Given the description of an element on the screen output the (x, y) to click on. 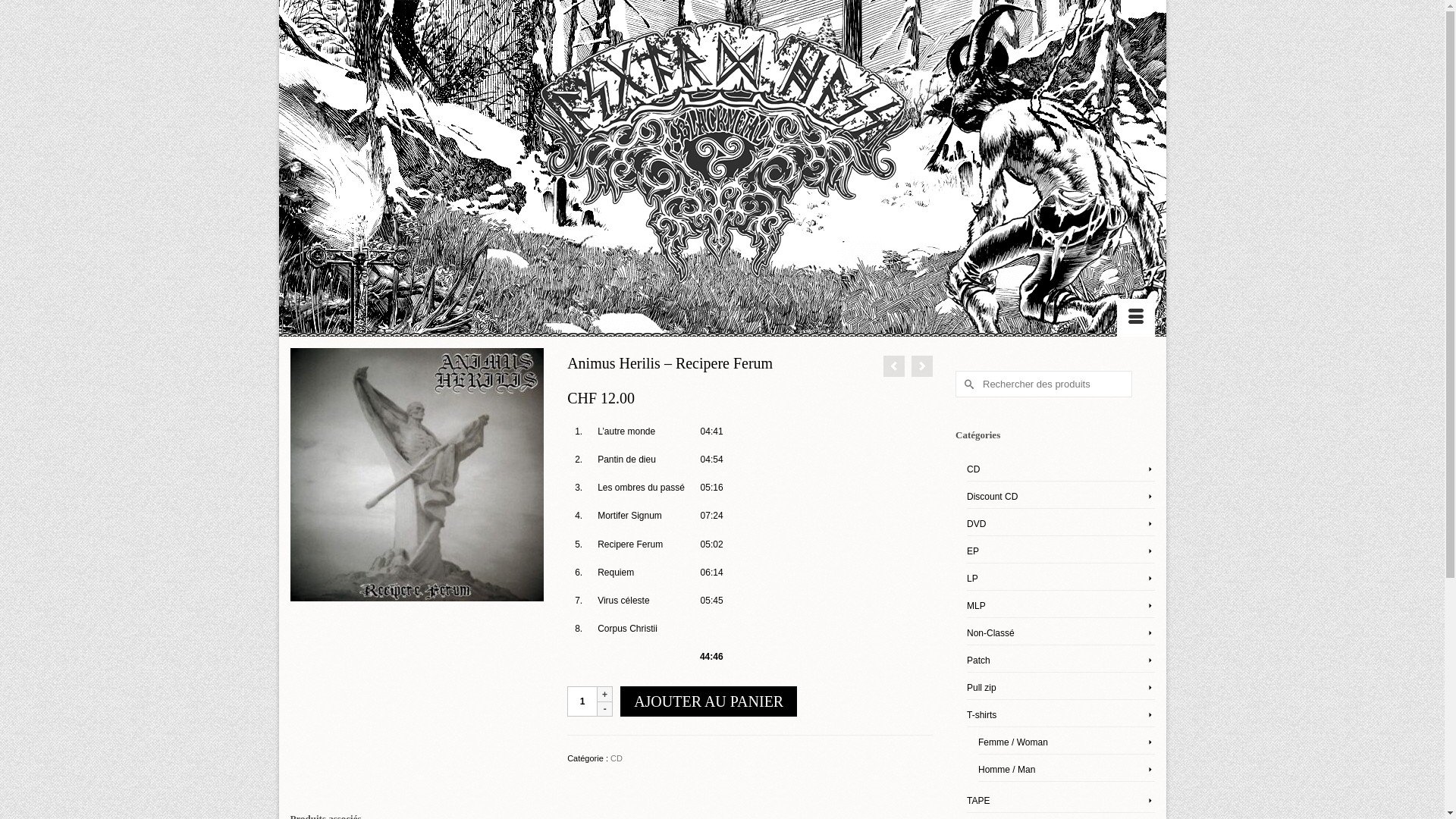
Femme / Woman Element type: text (1066, 742)
LP Element type: text (1060, 578)
94616 Element type: hover (416, 473)
TAPE Element type: text (1060, 800)
DVD Element type: text (1060, 524)
EP Element type: text (1060, 551)
CD Element type: text (1060, 469)
Discount CD Element type: text (1060, 496)
MLP Element type: text (1060, 606)
Blodsrite - Helvetehymner Element type: hover (893, 365)
Asgard Hass Element type: hover (721, 159)
Homme / Man Element type: text (1066, 769)
Patch Element type: text (1060, 660)
AJOUTER AU PANIER Element type: text (708, 701)
CD Element type: text (616, 757)
T-shirts Element type: text (1060, 715)
Pull zip Element type: text (1060, 687)
